Given the description of an element on the screen output the (x, y) to click on. 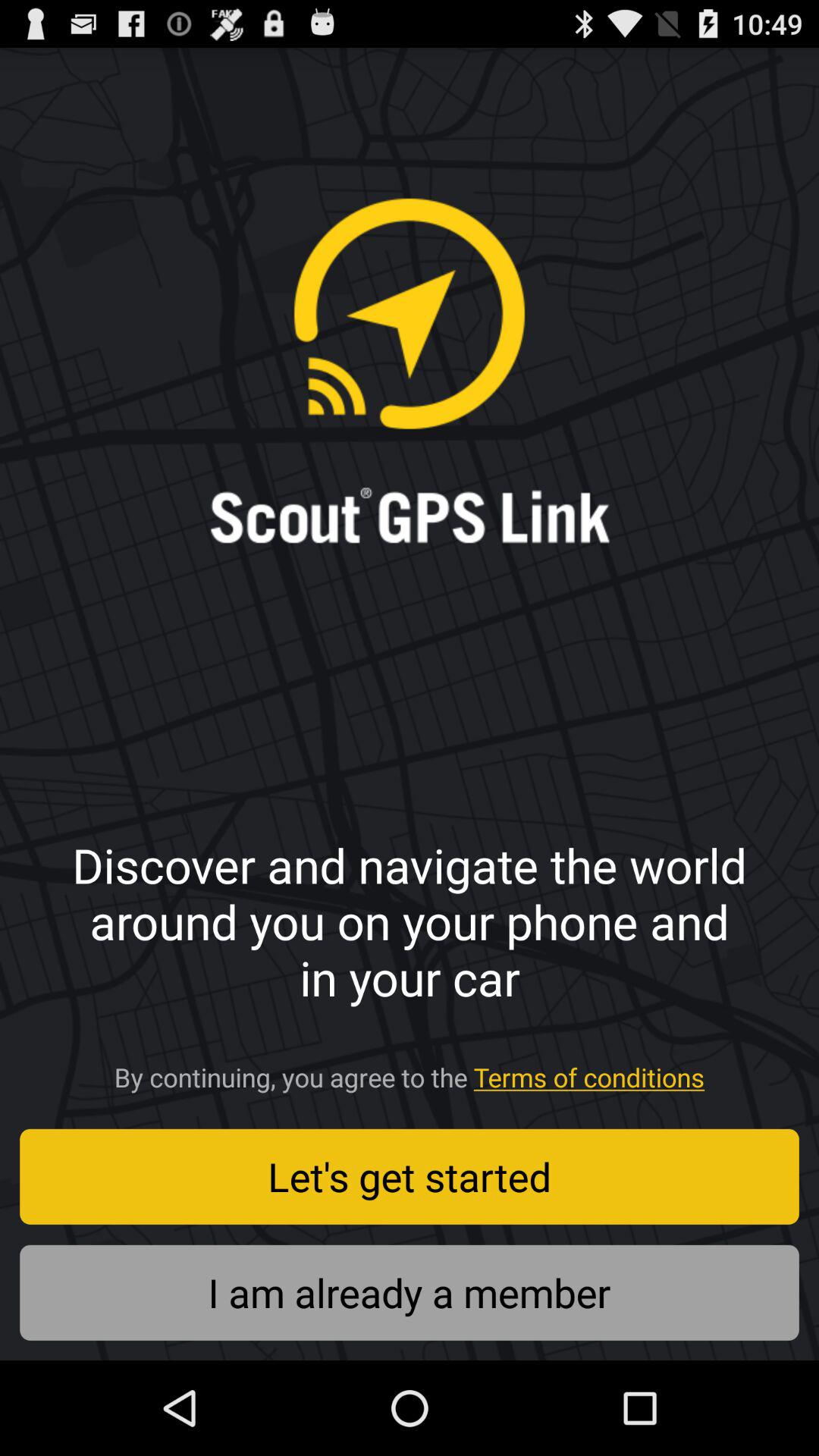
choose the icon at the top left corner (69, 117)
